Given the description of an element on the screen output the (x, y) to click on. 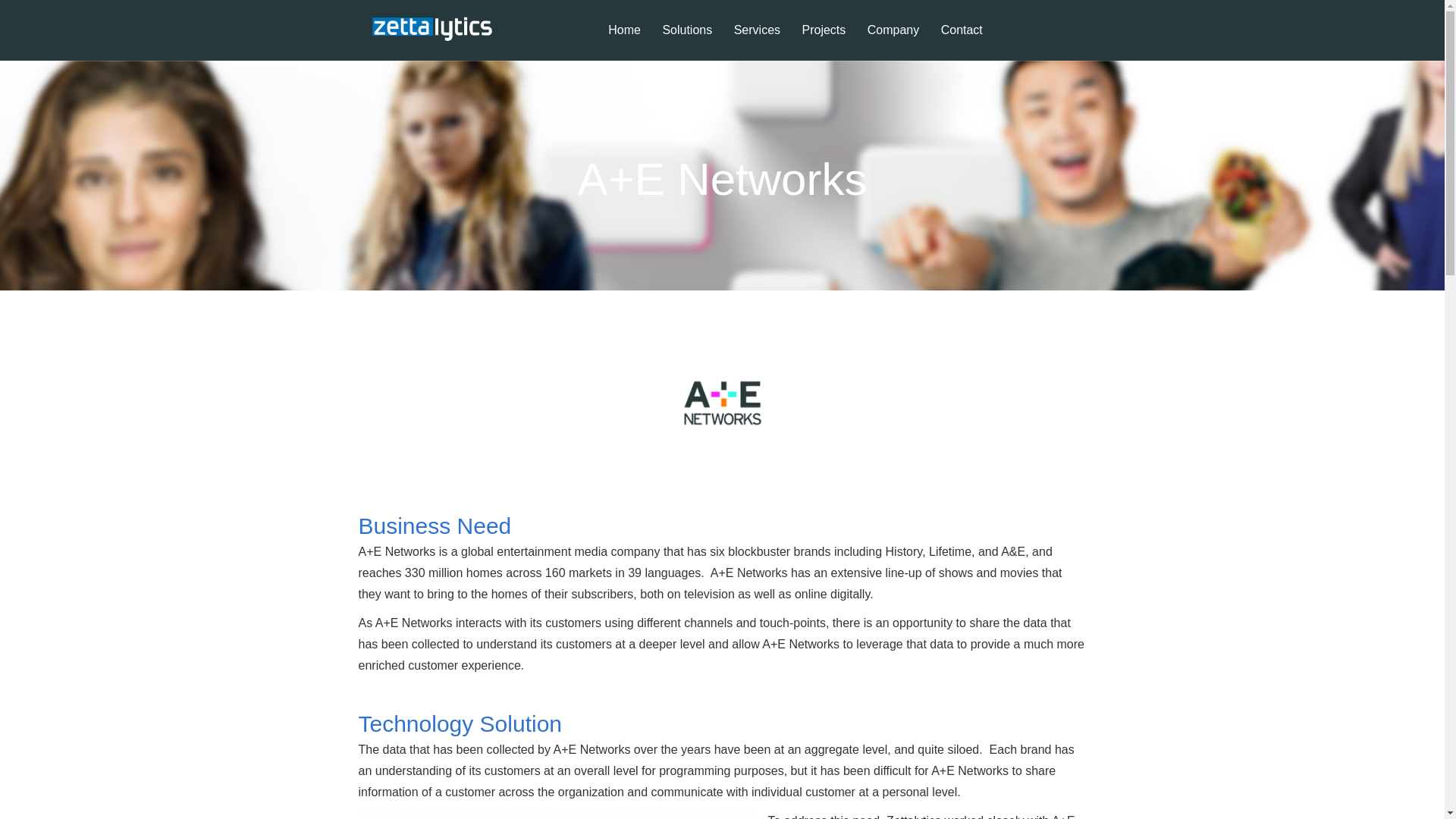
Solutions (686, 42)
Services (757, 42)
Home (623, 42)
Projects (823, 42)
Contact (961, 42)
Company (893, 42)
